Given the description of an element on the screen output the (x, y) to click on. 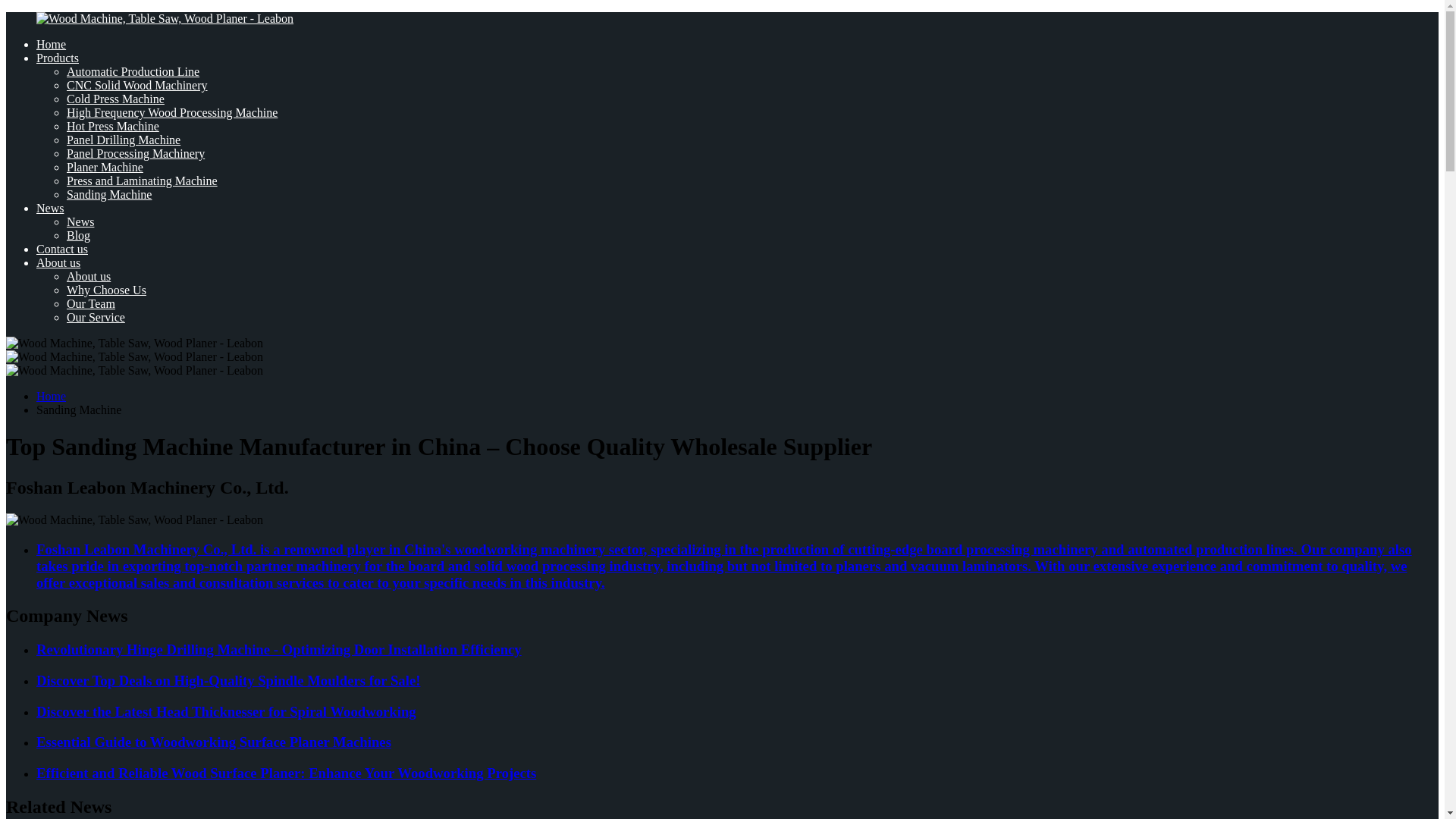
Our Service (95, 317)
Why Choose Us (106, 289)
Products (57, 57)
Our Team (90, 303)
CNC Solid Wood Machinery (137, 84)
Press and Laminating Machine (141, 180)
Home (50, 43)
Panel Processing Machinery (135, 153)
Contact us (61, 248)
Blog (78, 235)
About us (58, 262)
About us (88, 276)
News (50, 207)
Hot Press Machine (112, 125)
Planer Machine (104, 166)
